Given the description of an element on the screen output the (x, y) to click on. 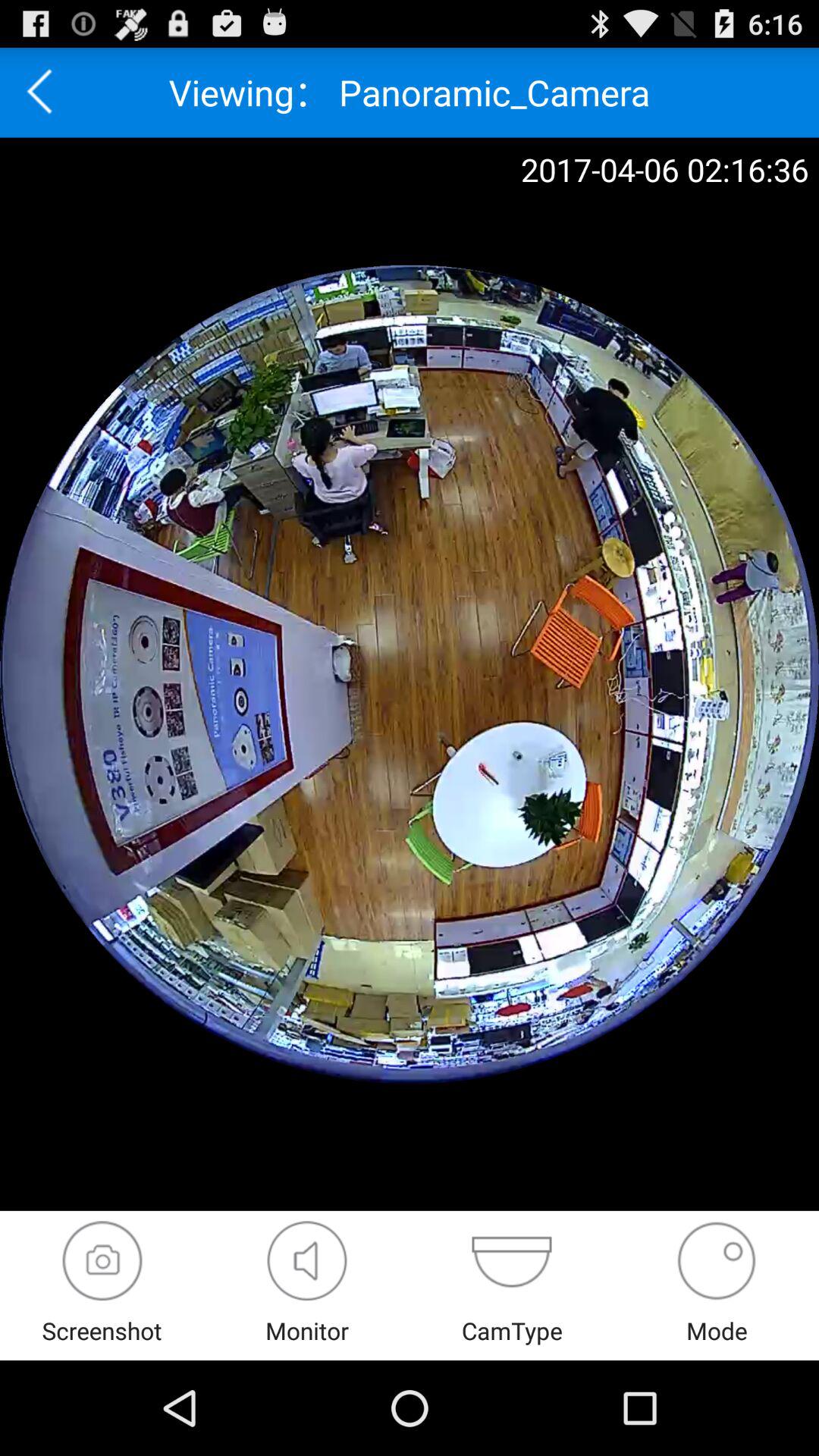
switch mode option (716, 1260)
